Given the description of an element on the screen output the (x, y) to click on. 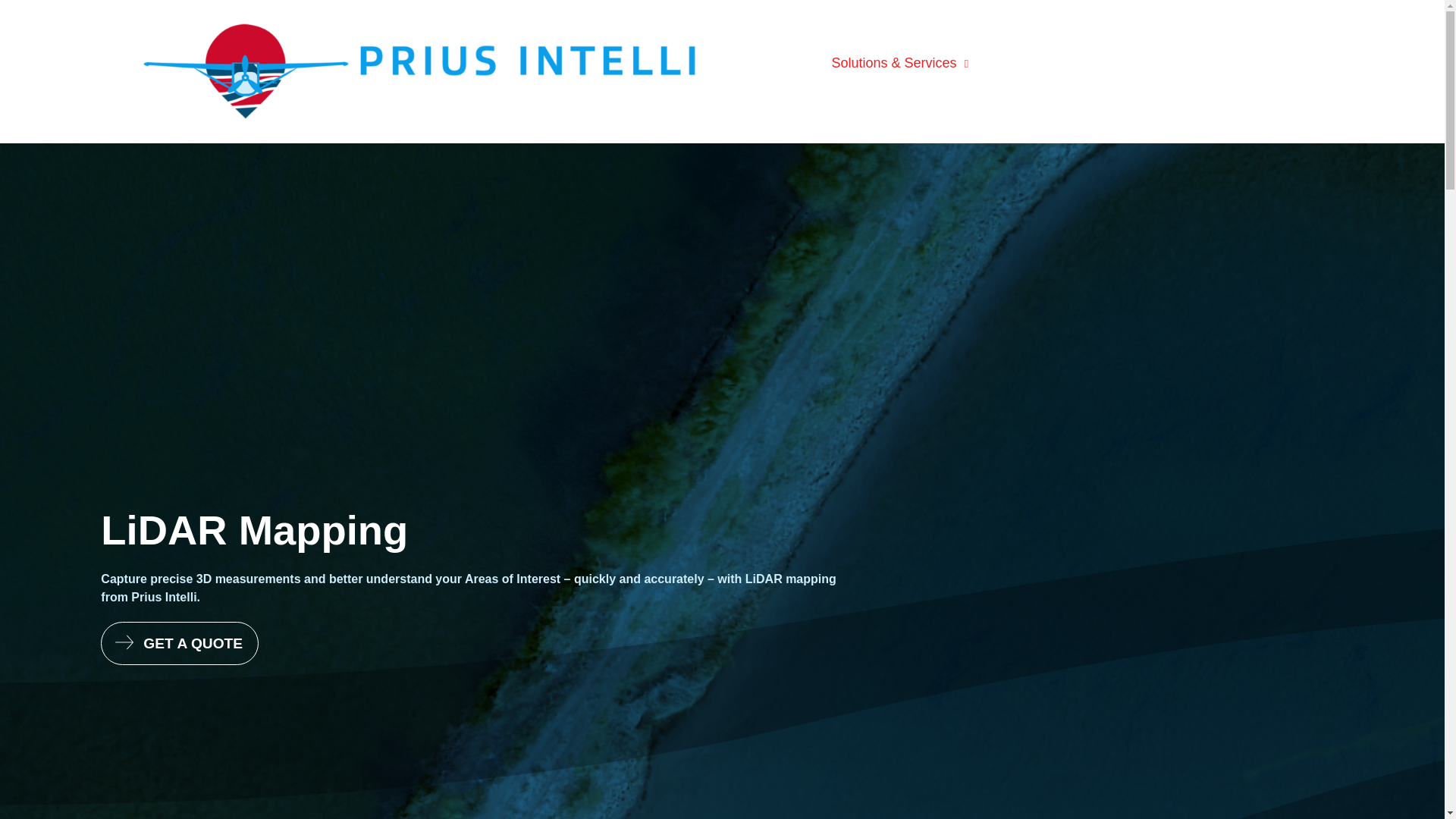
About Us (1183, 63)
